Given the description of an element on the screen output the (x, y) to click on. 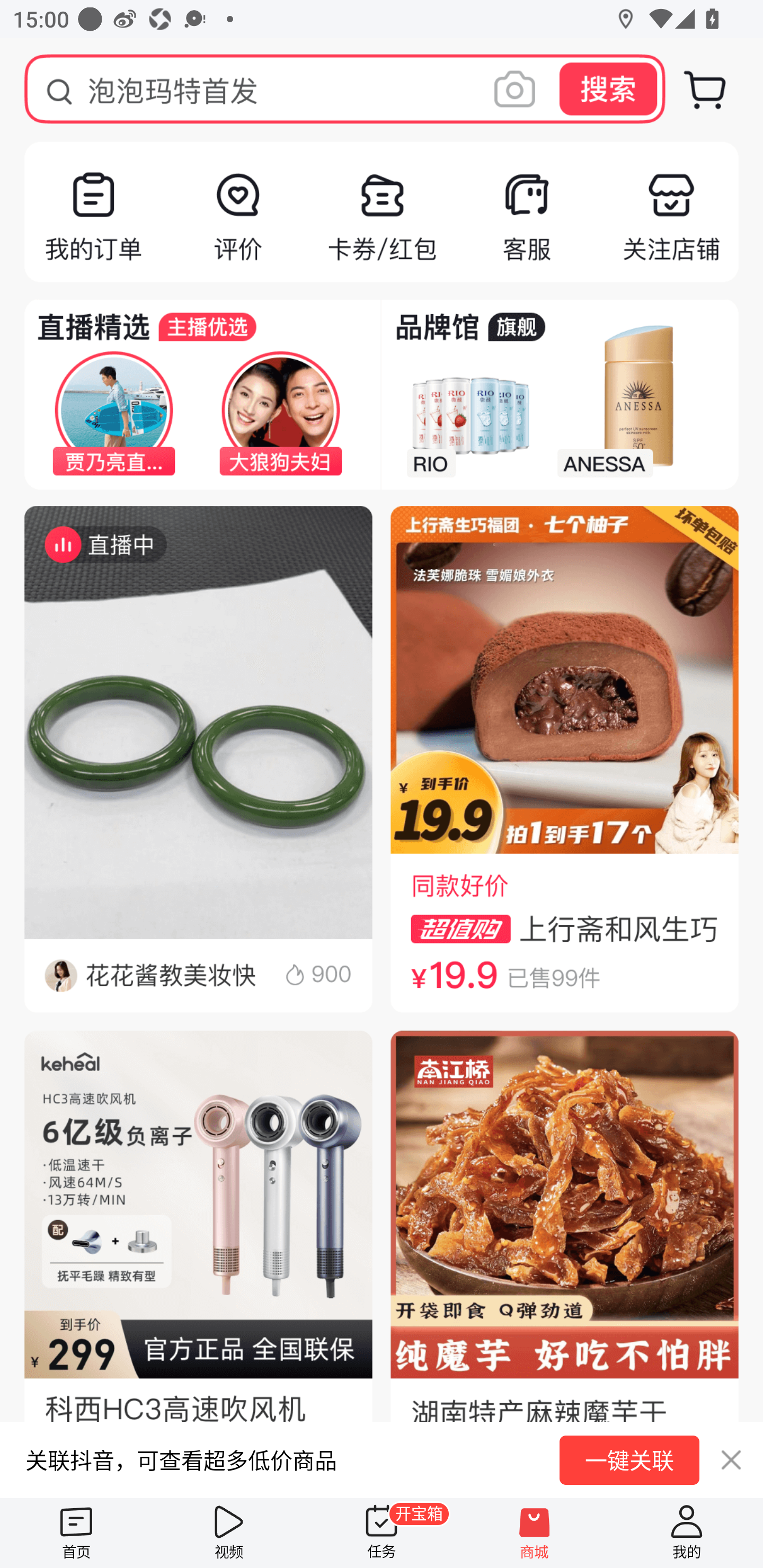
关联抖音，可查看超多低价商品 一键关联 (381, 1459)
一键关联 (629, 1460)
首页 (76, 1532)
视频 (228, 1532)
任务 开宝箱 (381, 1532)
商城 (533, 1532)
我的 (686, 1532)
